Given the description of an element on the screen output the (x, y) to click on. 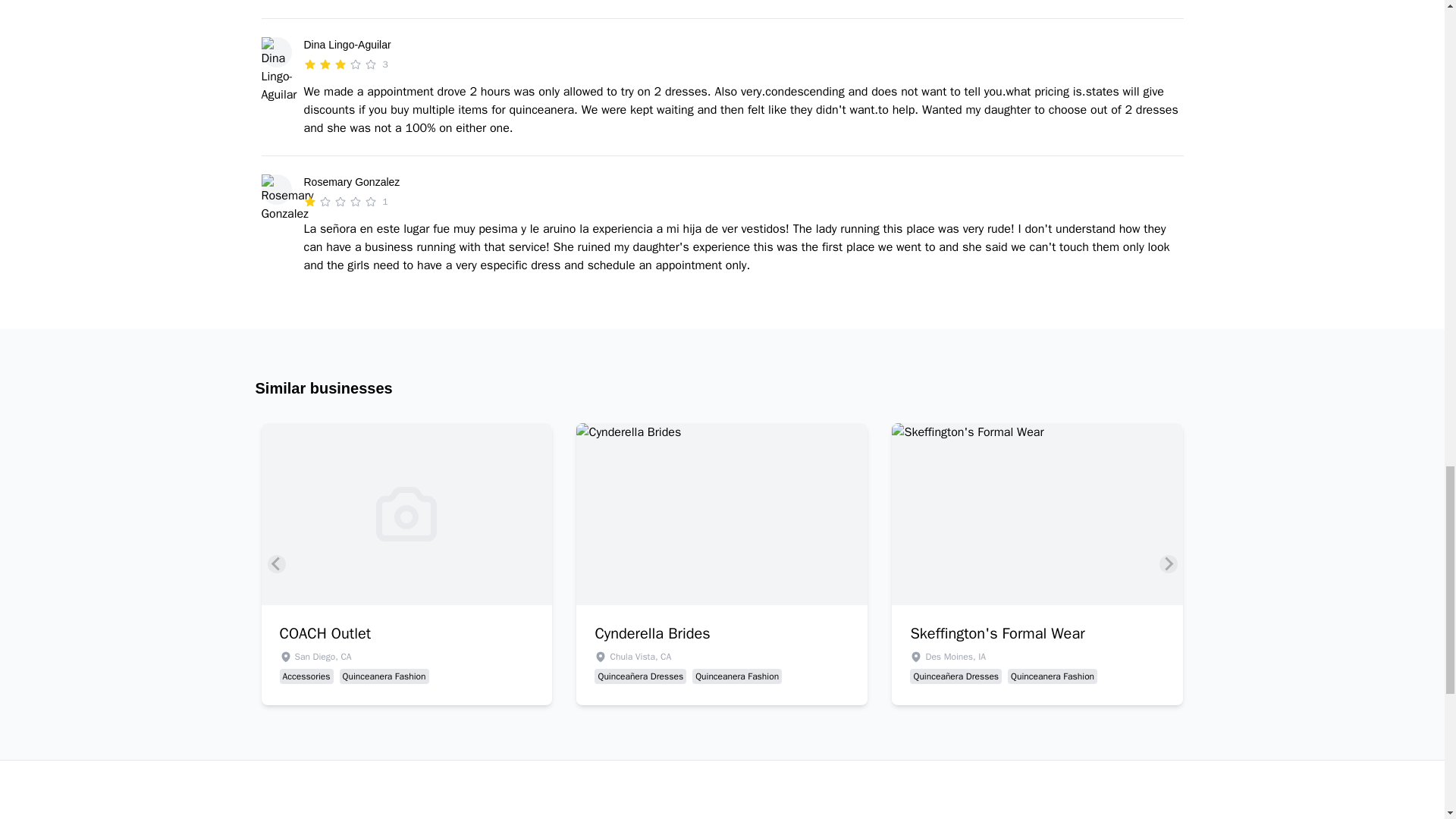
COACH Outlet (406, 633)
Cynderella Brides (721, 633)
Quinceanera Fashion (384, 676)
Accessories (306, 676)
